Given the description of an element on the screen output the (x, y) to click on. 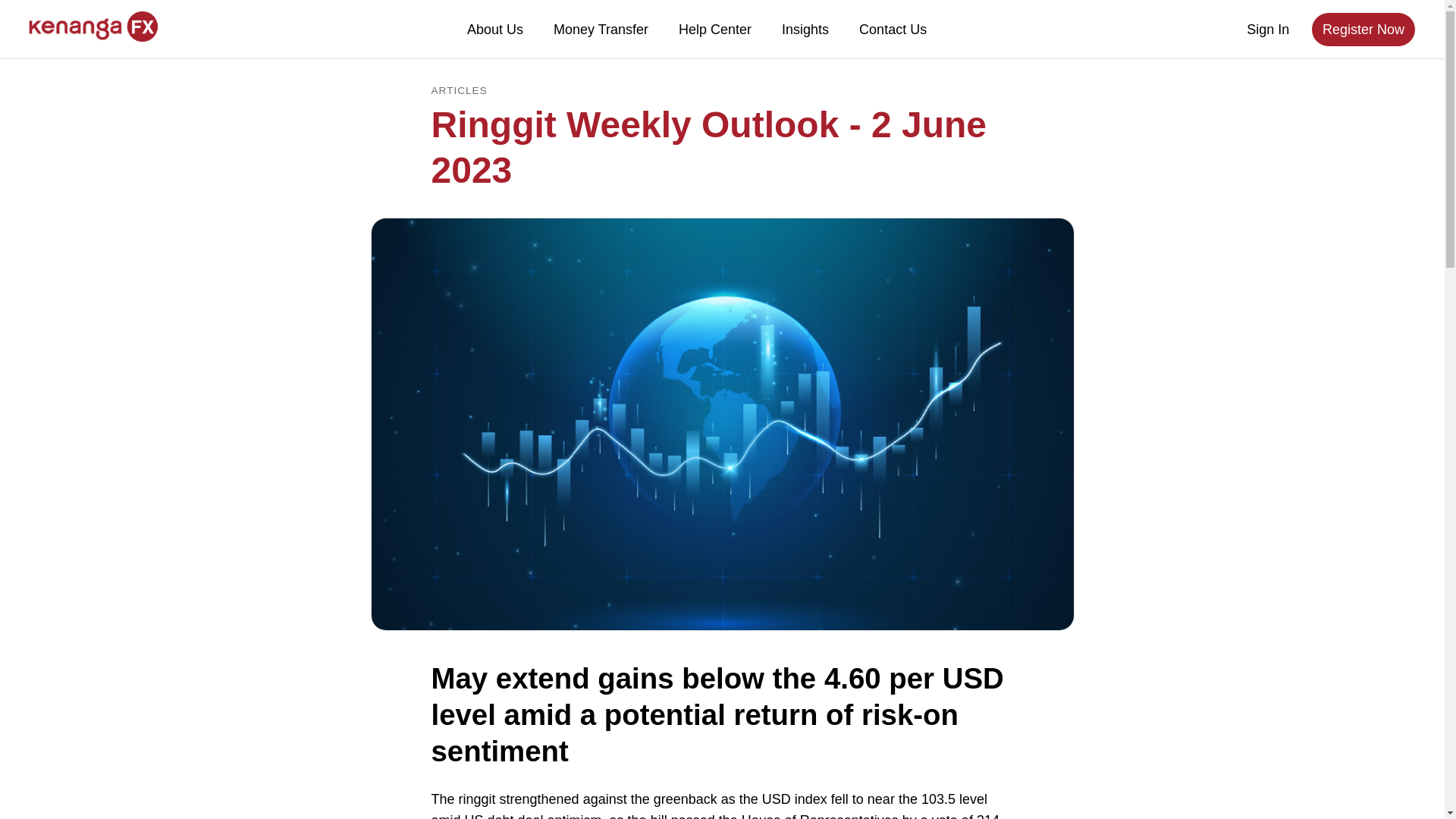
Register Now (1363, 29)
Contact Us (893, 29)
Insights (805, 29)
Help Center (715, 29)
Sign In (1268, 29)
Money Transfer (600, 29)
ARTICLES (458, 90)
About Us (494, 29)
